Given the description of an element on the screen output the (x, y) to click on. 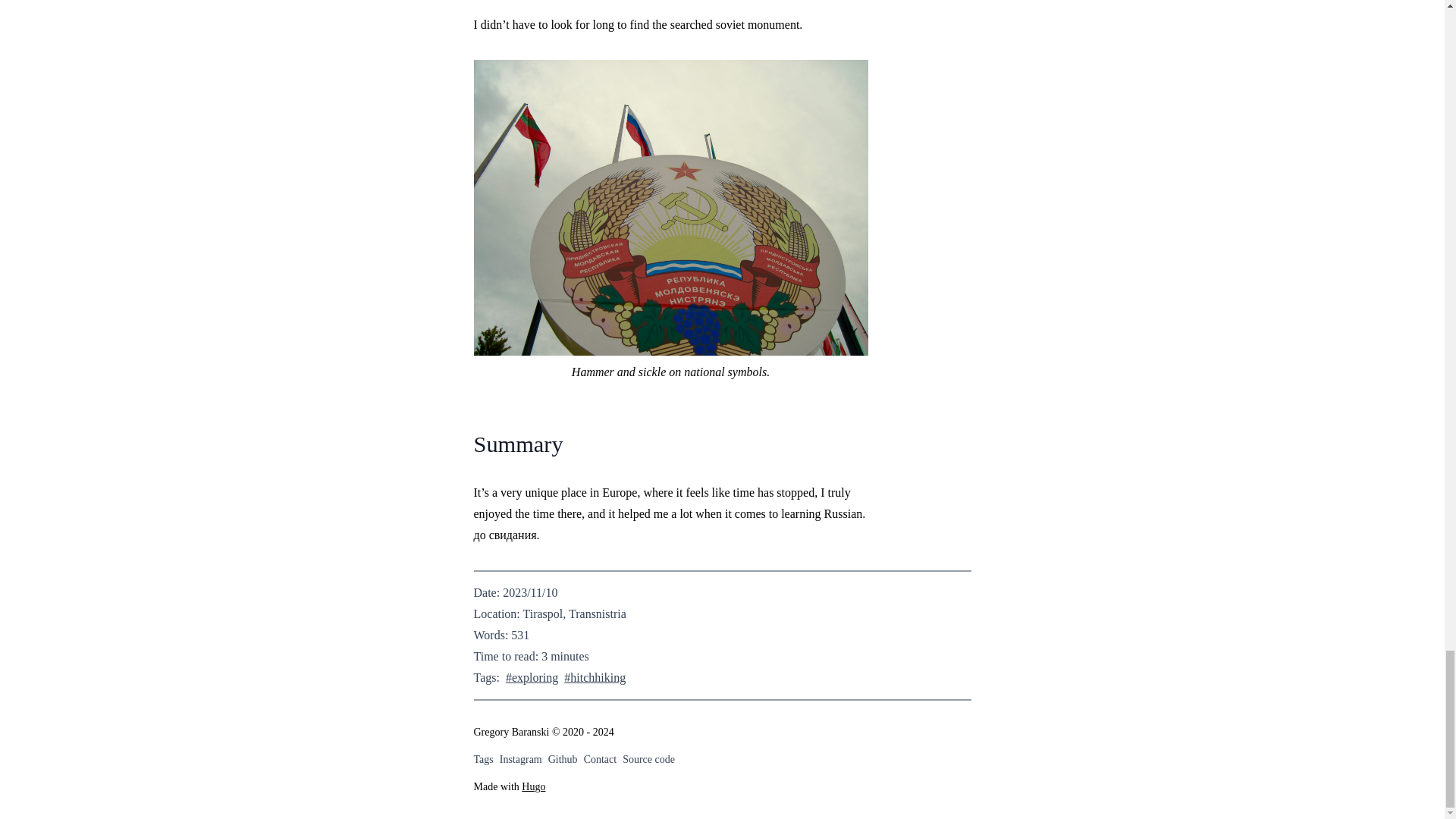
Tags (483, 759)
